Given the description of an element on the screen output the (x, y) to click on. 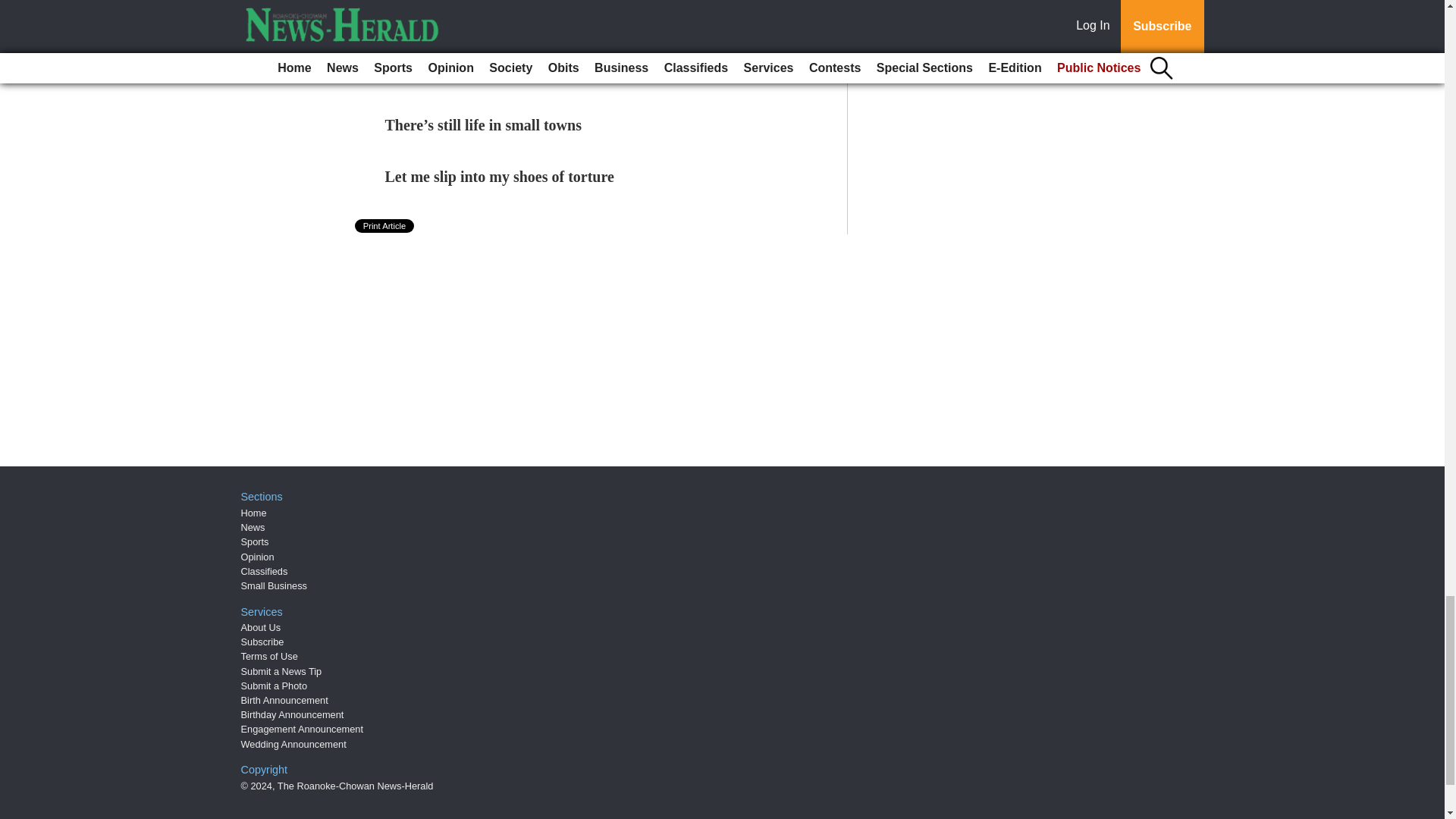
Print Article (384, 225)
Saying farewell to fear (458, 73)
Saying farewell to fear (458, 73)
Let me slip into my shoes of torture (499, 176)
Let me slip into my shoes of torture (499, 176)
